Given the description of an element on the screen output the (x, y) to click on. 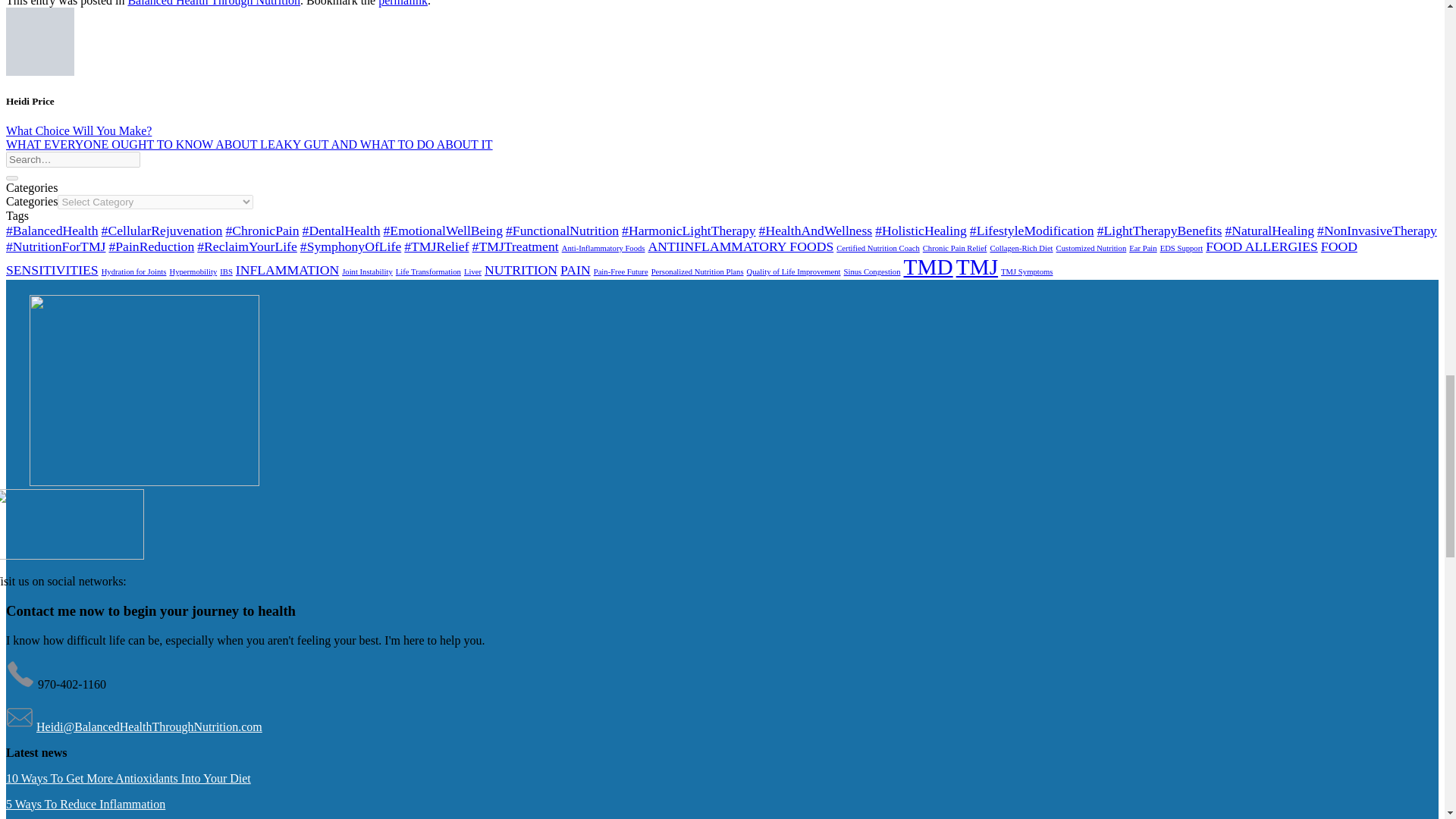
What Choice Will You Make? (78, 130)
Permalink to BUILDING RESILIENCE IN TIMES OF UNCERTAINTY (403, 3)
permalink (403, 3)
Balanced Health Through Nutrition (213, 3)
